Given the description of an element on the screen output the (x, y) to click on. 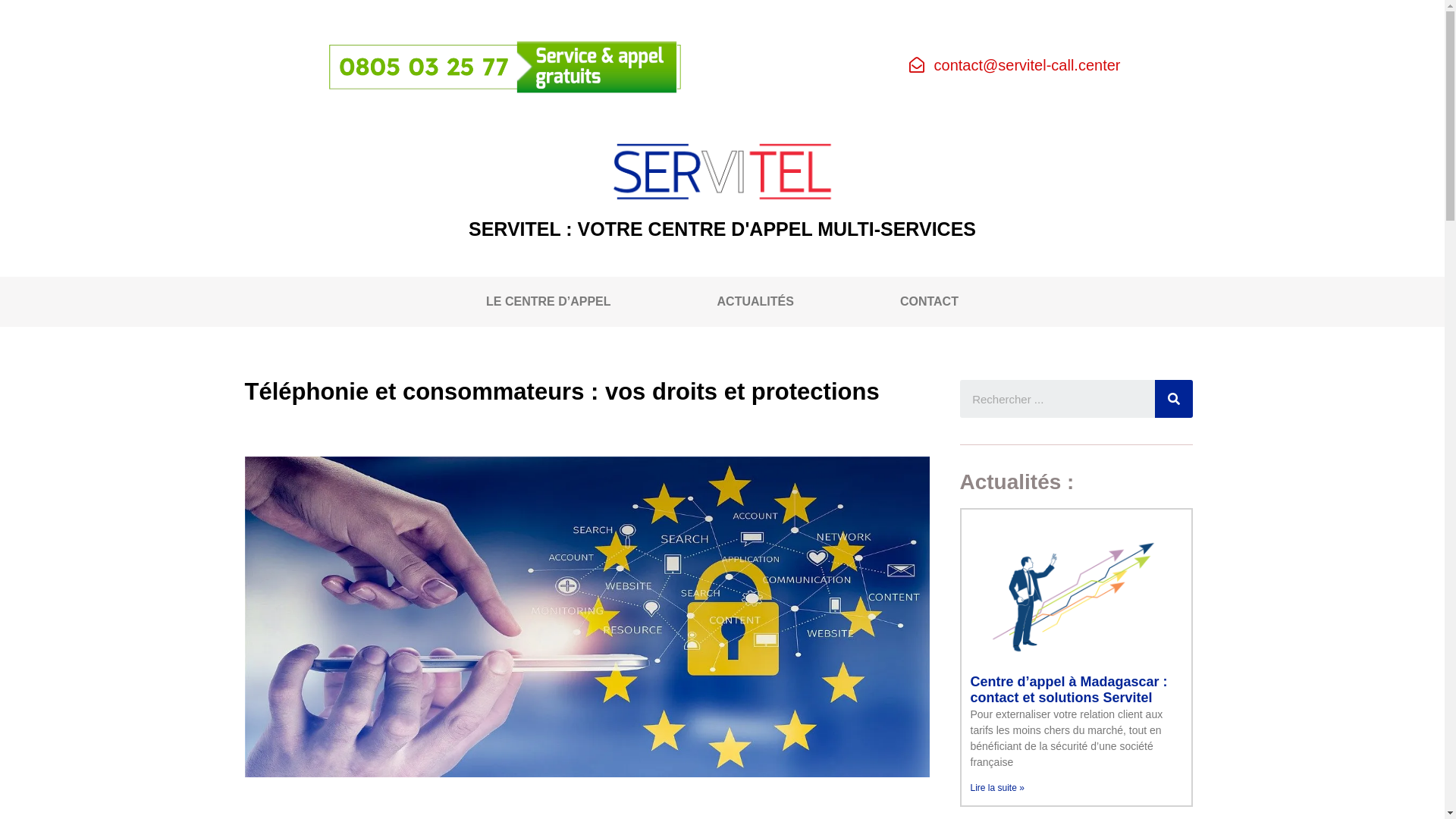
Search Element type: hover (1057, 398)
SERVITEL : VOTRE CENTRE D'APPEL MULTI-SERVICES Element type: text (721, 228)
Search Element type: hover (1173, 398)
contact@servitel-call.center Element type: text (1014, 65)
CONTACT Element type: text (928, 301)
